Given the description of an element on the screen output the (x, y) to click on. 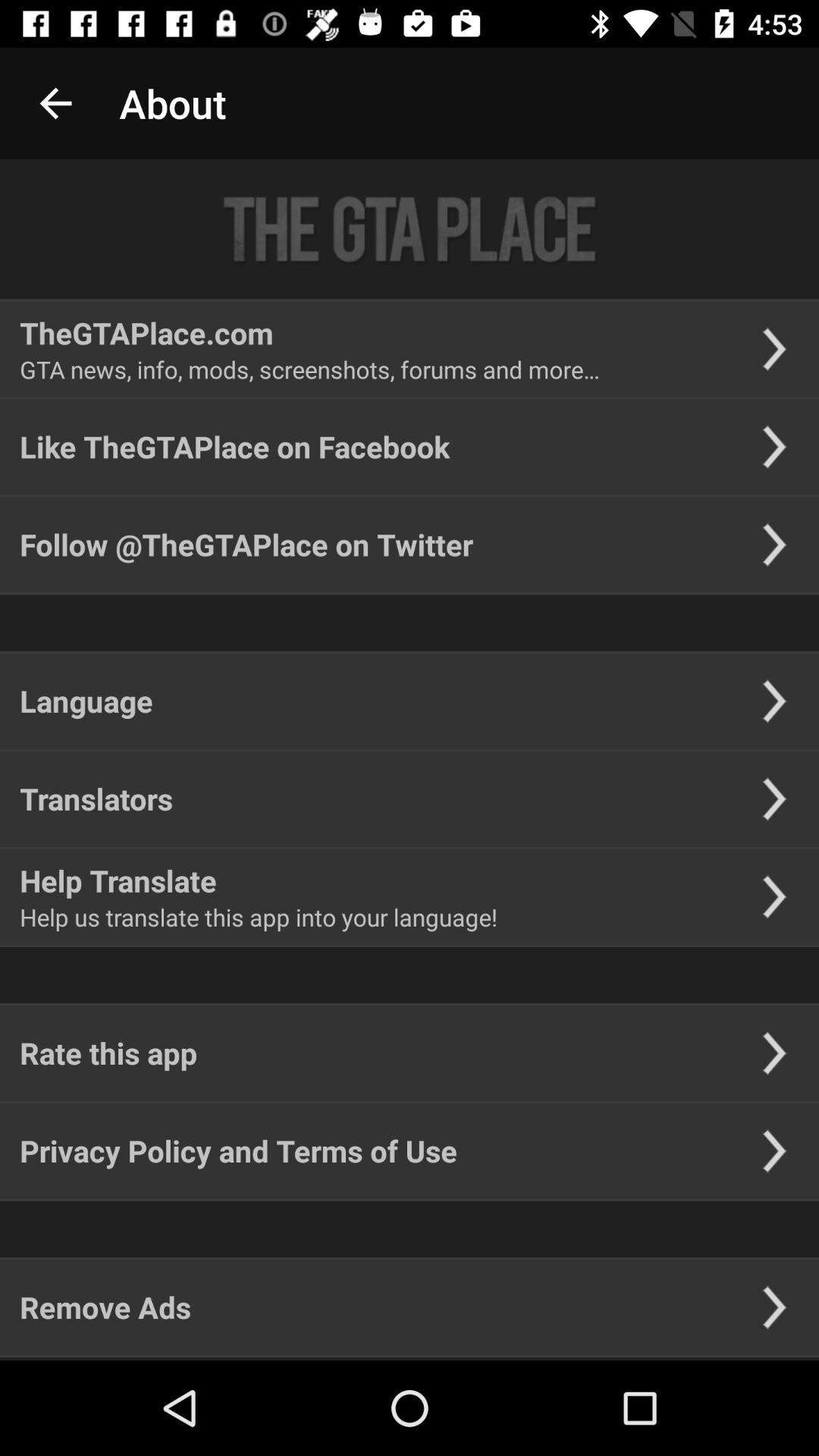
scroll until the gta news info item (309, 369)
